Given the description of an element on the screen output the (x, y) to click on. 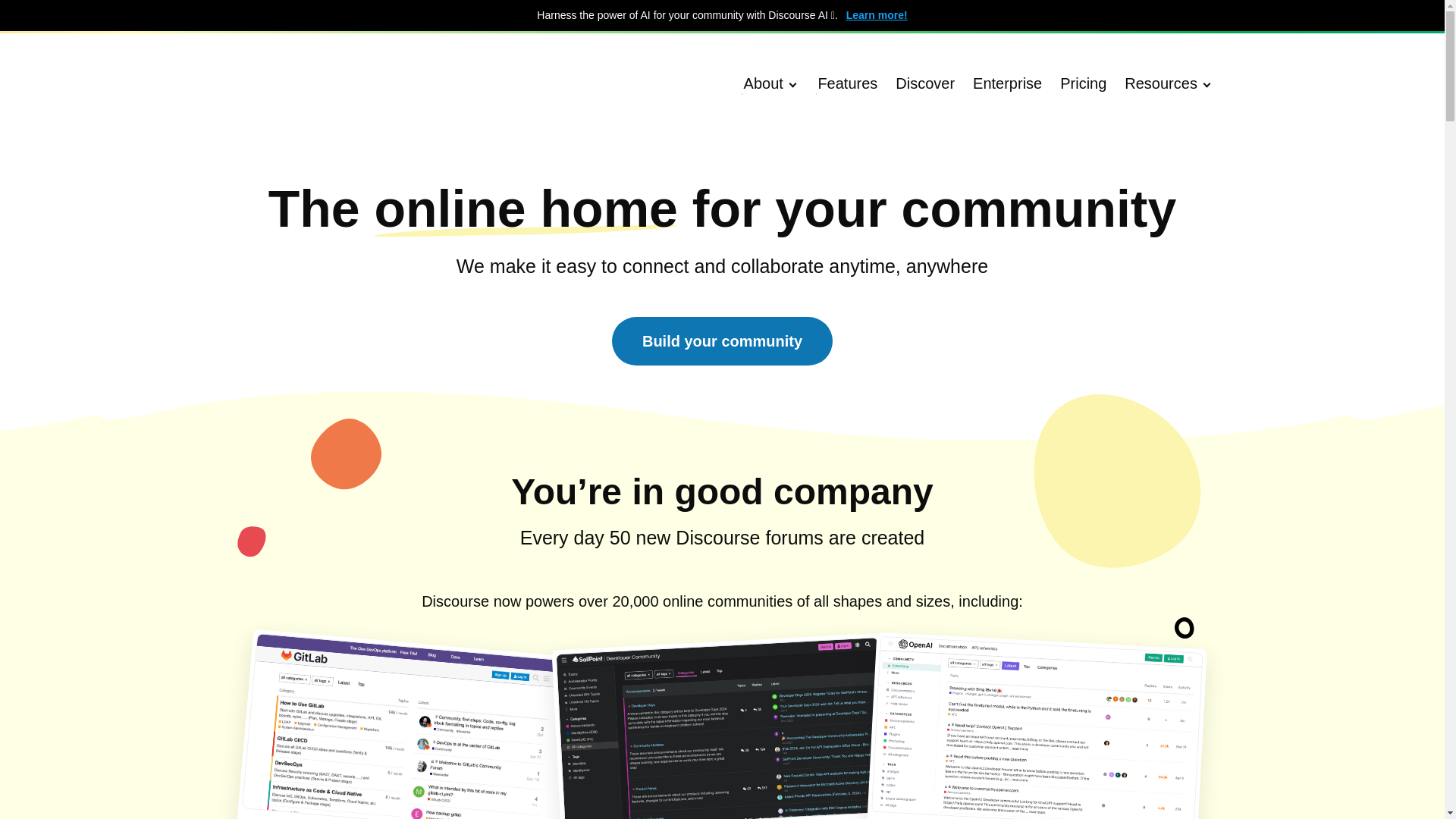
Learn more! (876, 15)
Pricing (1083, 83)
Skip to content (43, 7)
Discover (924, 83)
Build your community (721, 340)
About (771, 83)
Enterprise (1007, 83)
Features (847, 83)
Resources (1168, 83)
